Given the description of an element on the screen output the (x, y) to click on. 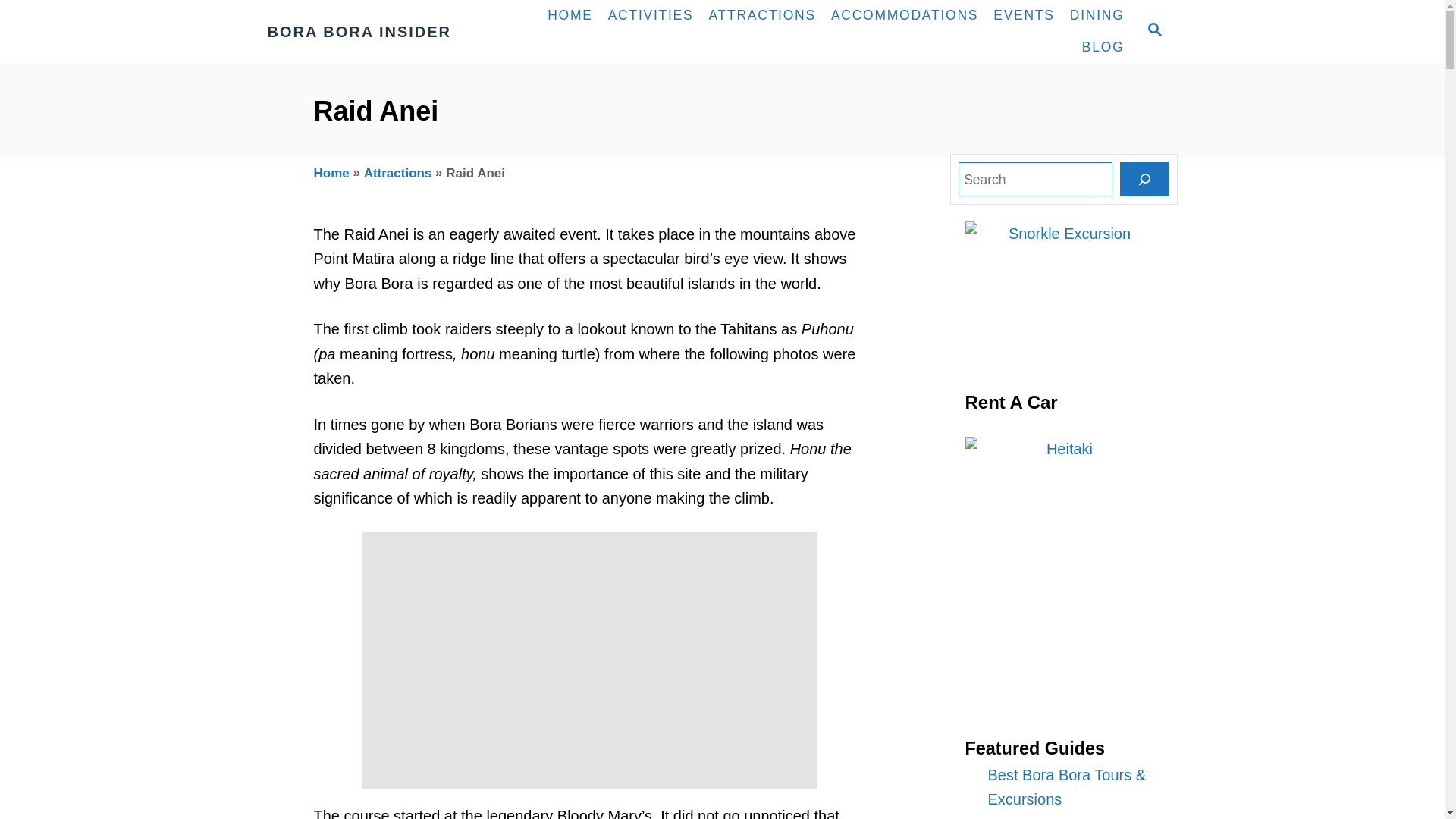
ATTRACTIONS (761, 15)
ACCOMMODATIONS (904, 15)
Attractions (398, 173)
HOME (569, 15)
DINING (1097, 15)
BLOG (1103, 47)
EVENTS (1023, 15)
Bora Bora Insider (379, 32)
BORA BORA INSIDER (379, 32)
Home (331, 173)
ACTIVITIES (650, 15)
SEARCH (1153, 31)
